Given the description of an element on the screen output the (x, y) to click on. 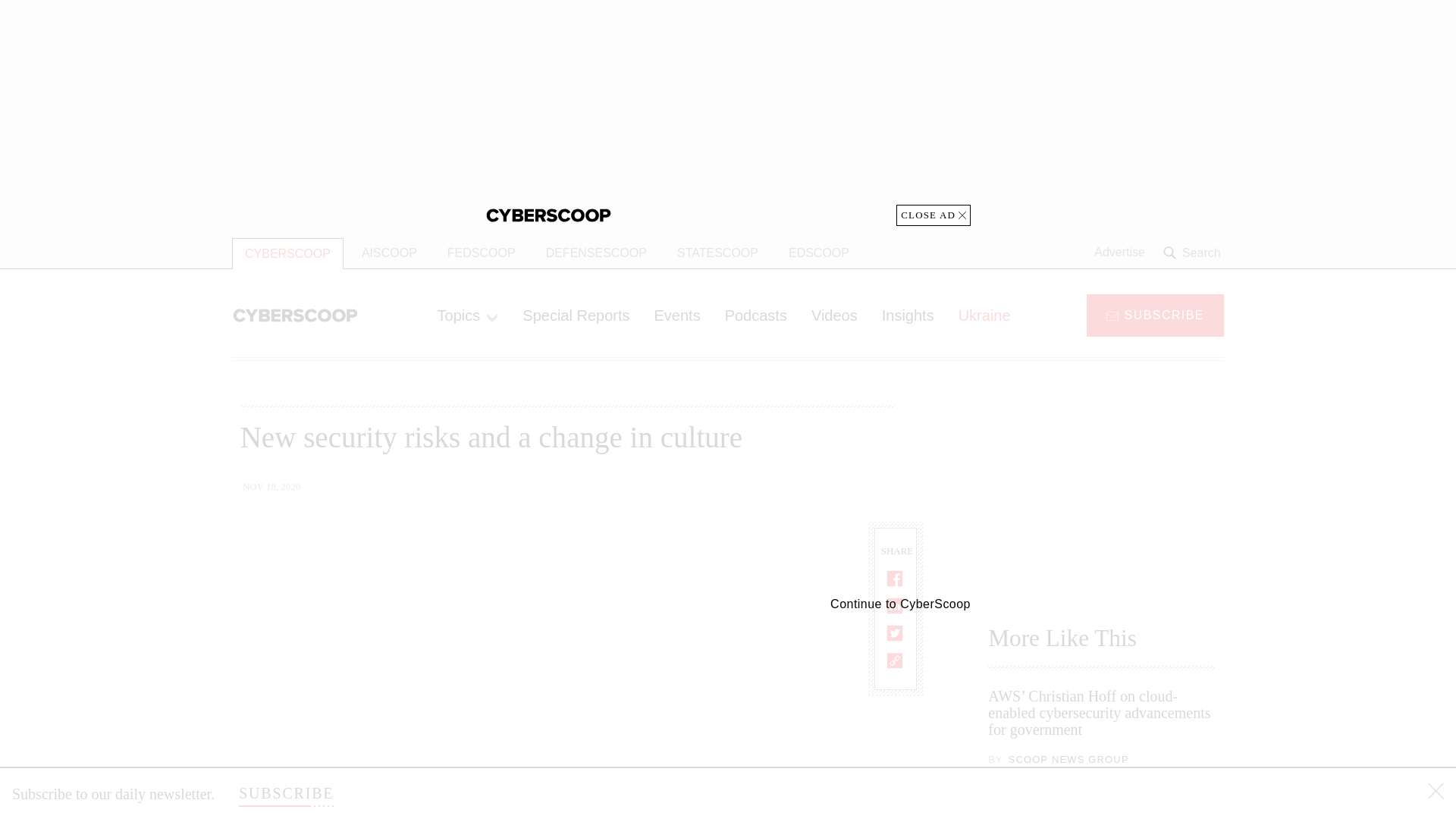
3rd party ad content (1101, 492)
Events (676, 315)
Special Reports (576, 315)
Insights (907, 315)
AISCOOP (389, 253)
CYBERSCOOP (287, 253)
Search (1193, 252)
Videos (834, 315)
Topics (468, 315)
FEDSCOOP (481, 253)
Advertise (1119, 252)
STATESCOOP (717, 253)
